Given the description of an element on the screen output the (x, y) to click on. 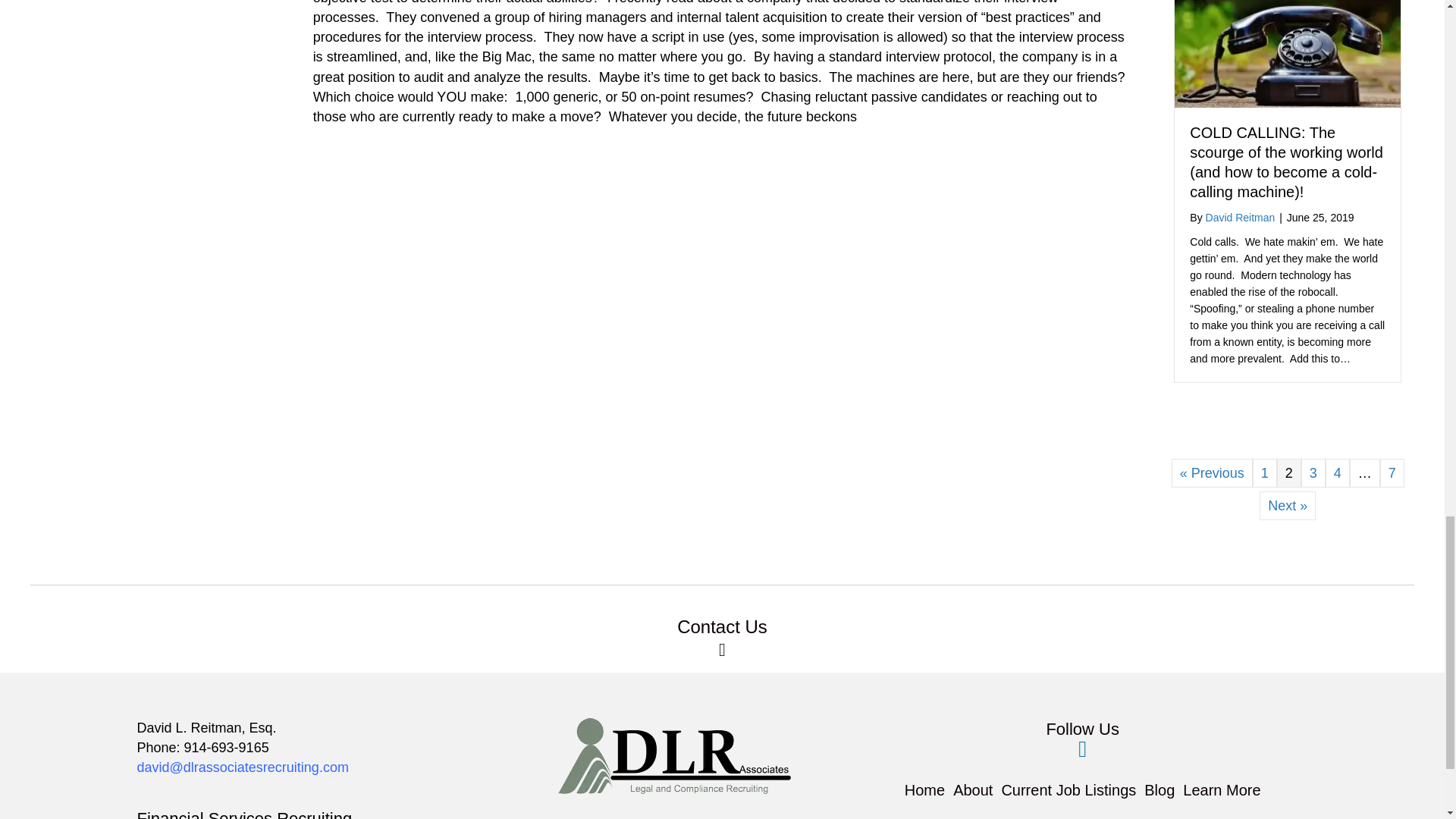
Blog (1158, 790)
Dlr-page-logosm (673, 755)
Learn More (1221, 790)
David Reitman (1240, 217)
Home (925, 790)
Current Job Listings (1068, 790)
About (972, 790)
